Given the description of an element on the screen output the (x, y) to click on. 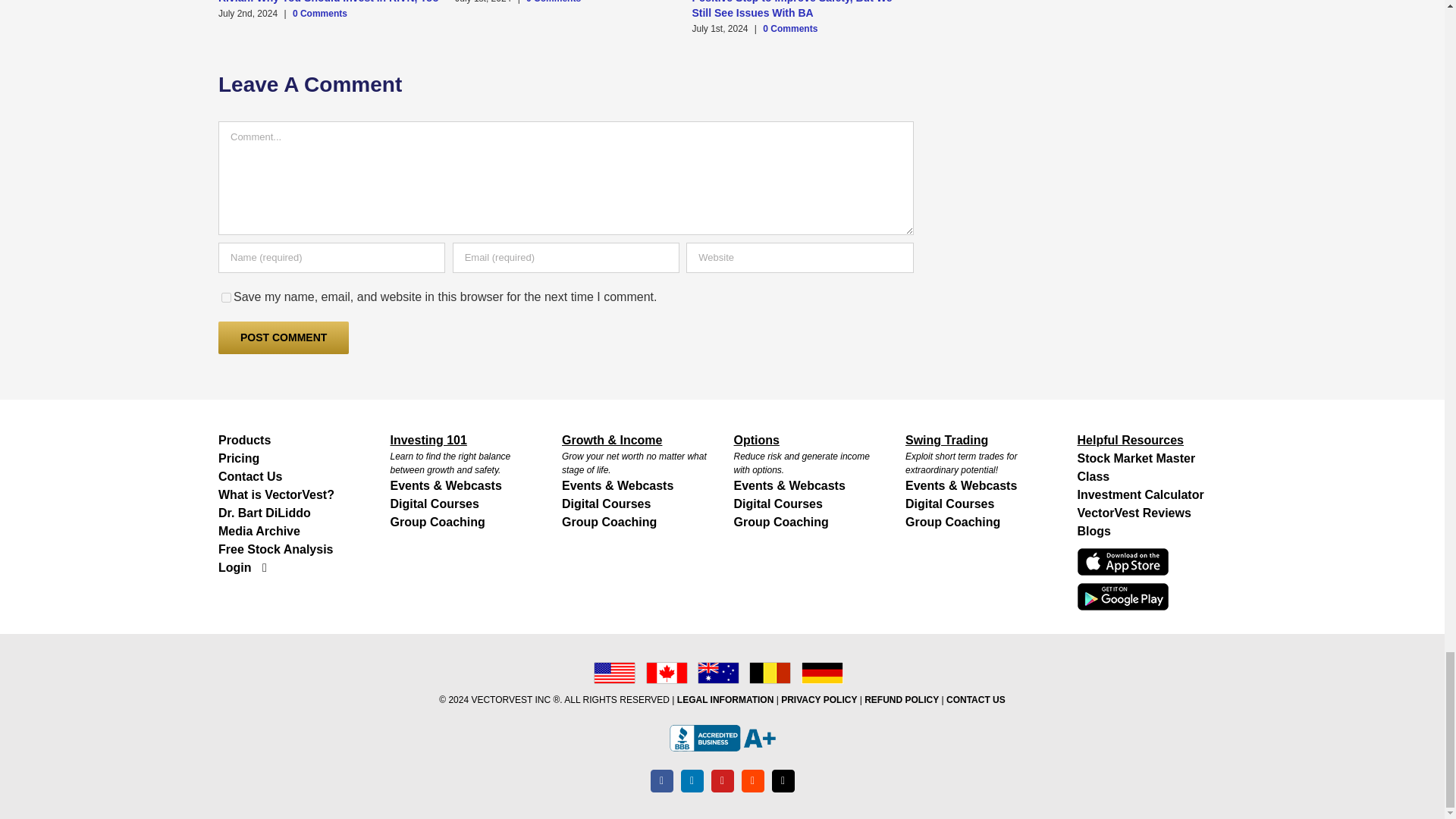
Post Comment (283, 337)
LinkedIn (692, 780)
Facebook (661, 780)
yes (226, 297)
